Given the description of an element on the screen output the (x, y) to click on. 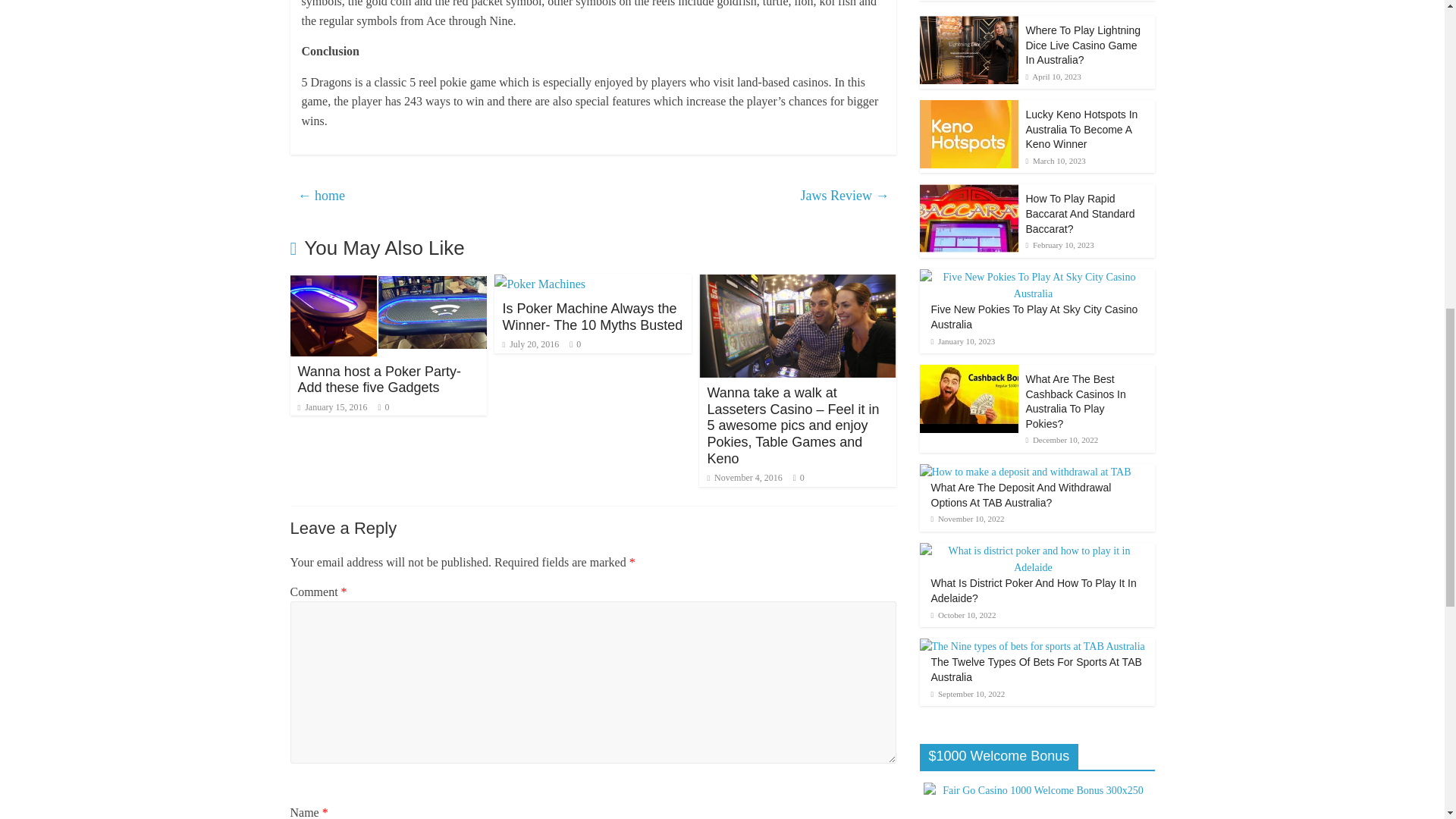
Is Poker Machine Always the Winner- The 10 Myths Busted (592, 316)
July 20, 2016 (530, 344)
Wanna host a Poker Party- Add these five Gadgets (387, 283)
Is Poker Machine Always the Winner- The 10 Myths Busted (592, 316)
January 15, 2016 (331, 407)
Wanna host a Poker Party- Add these five Gadgets (378, 379)
7:15 am (530, 344)
5:19 am (331, 407)
Is Poker Machine Always the Winner- The 10 Myths Busted (540, 283)
Wanna host a Poker Party- Add these five Gadgets (378, 379)
